Given the description of an element on the screen output the (x, y) to click on. 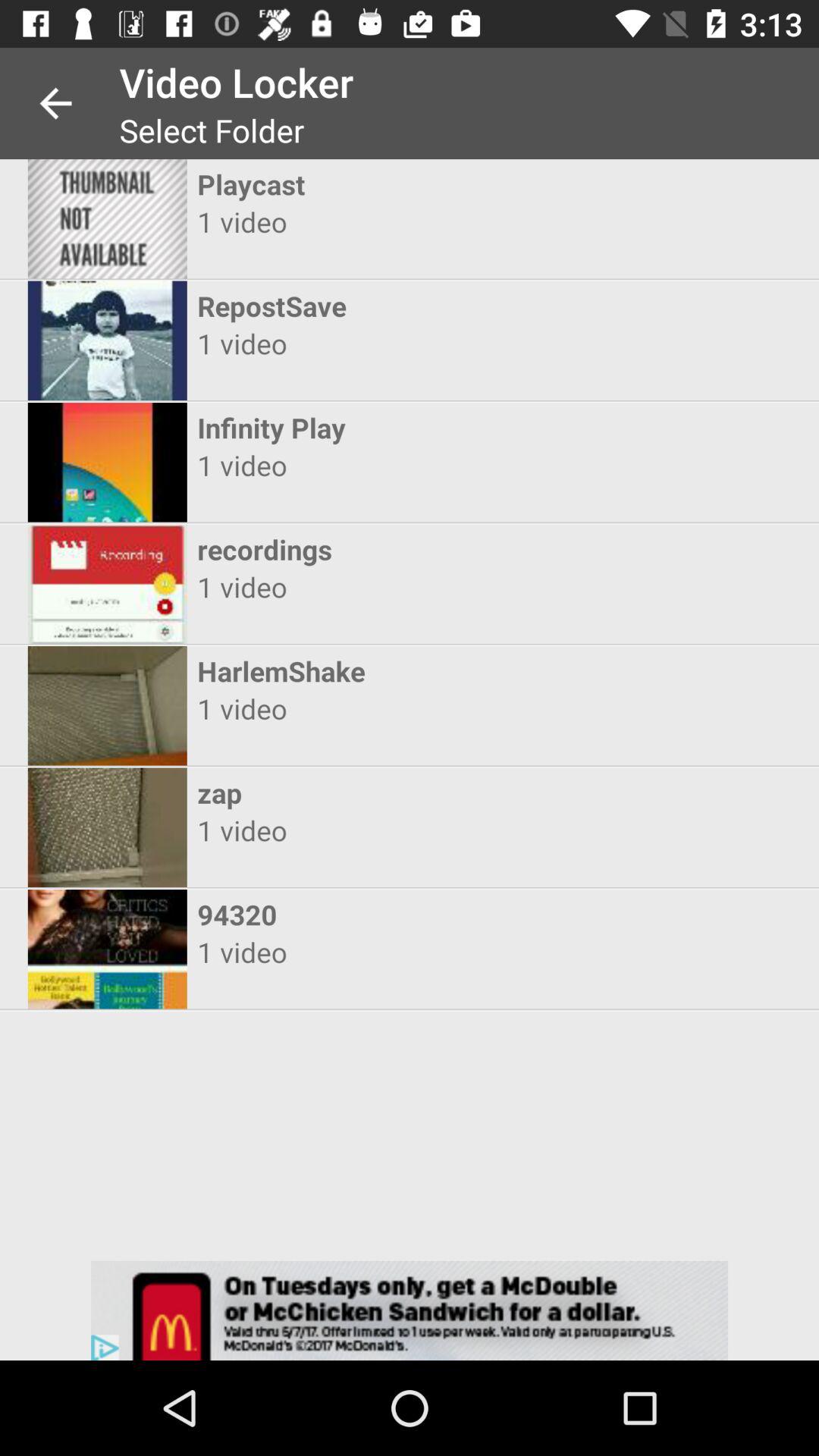
tap the icon above 1 video item (396, 427)
